Given the description of an element on the screen output the (x, y) to click on. 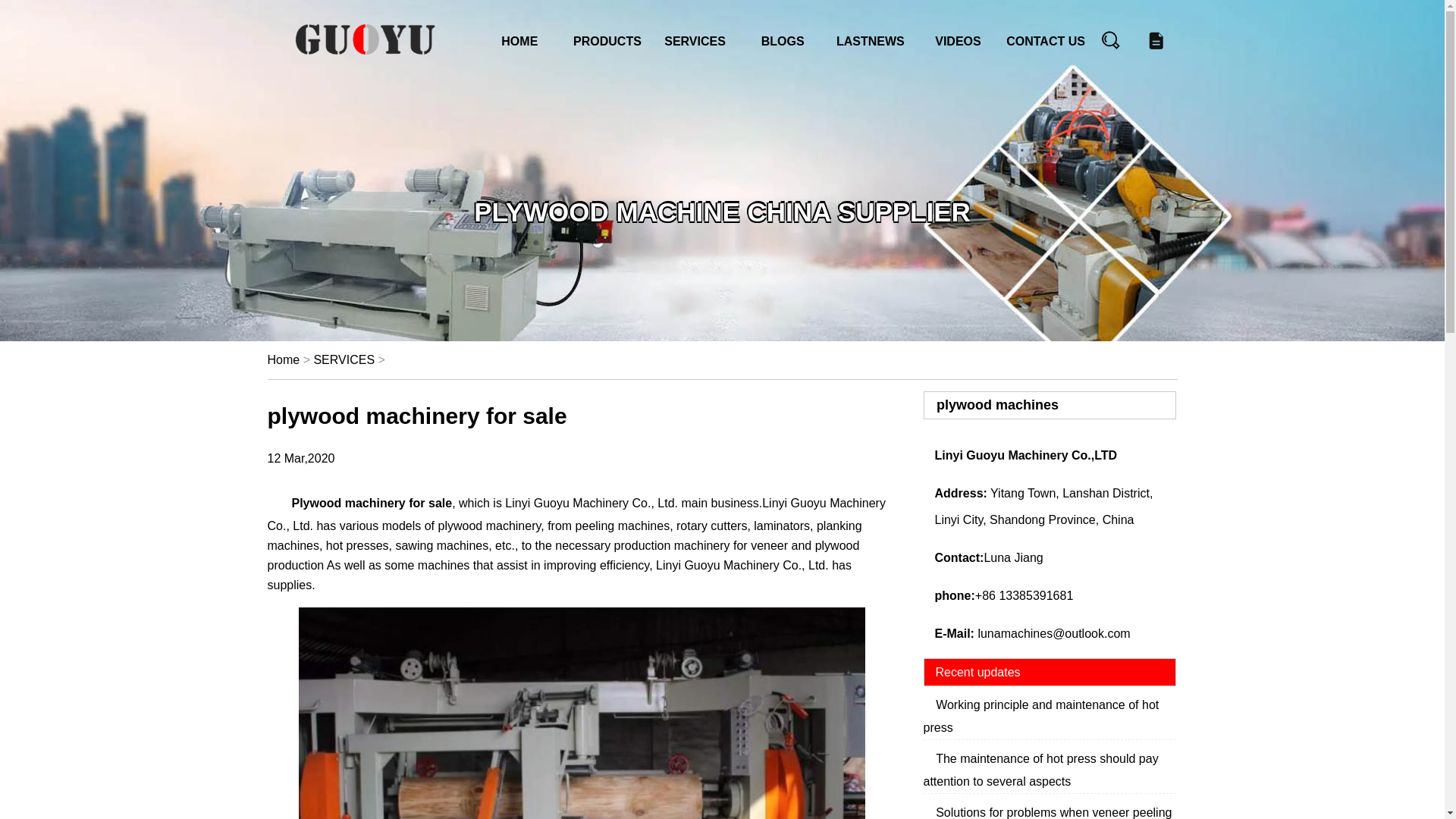
Home (282, 359)
search (1110, 42)
VIDEOS (956, 41)
plywood machines (1055, 405)
SERVICES (694, 41)
send inquiry (1155, 42)
BLOGS (783, 41)
PRODUCTS (607, 41)
Solutions for problems when veneer peeling machine working (1047, 812)
HOME (518, 41)
